Given the description of an element on the screen output the (x, y) to click on. 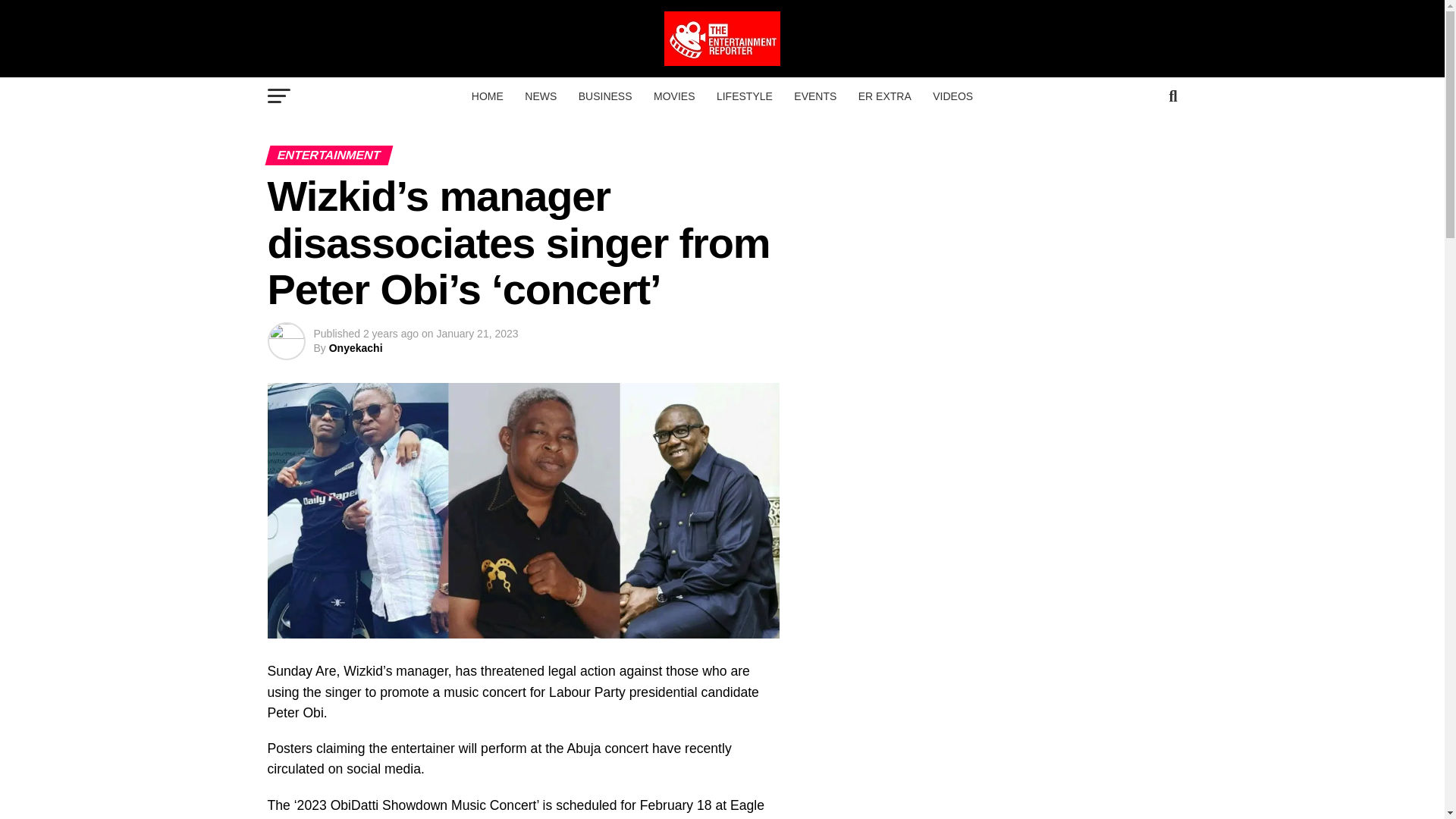
MOVIES (674, 95)
ER EXTRA (884, 95)
LIFESTYLE (744, 95)
EVENTS (814, 95)
HOME (487, 95)
BUSINESS (605, 95)
NEWS (540, 95)
